Given the description of an element on the screen output the (x, y) to click on. 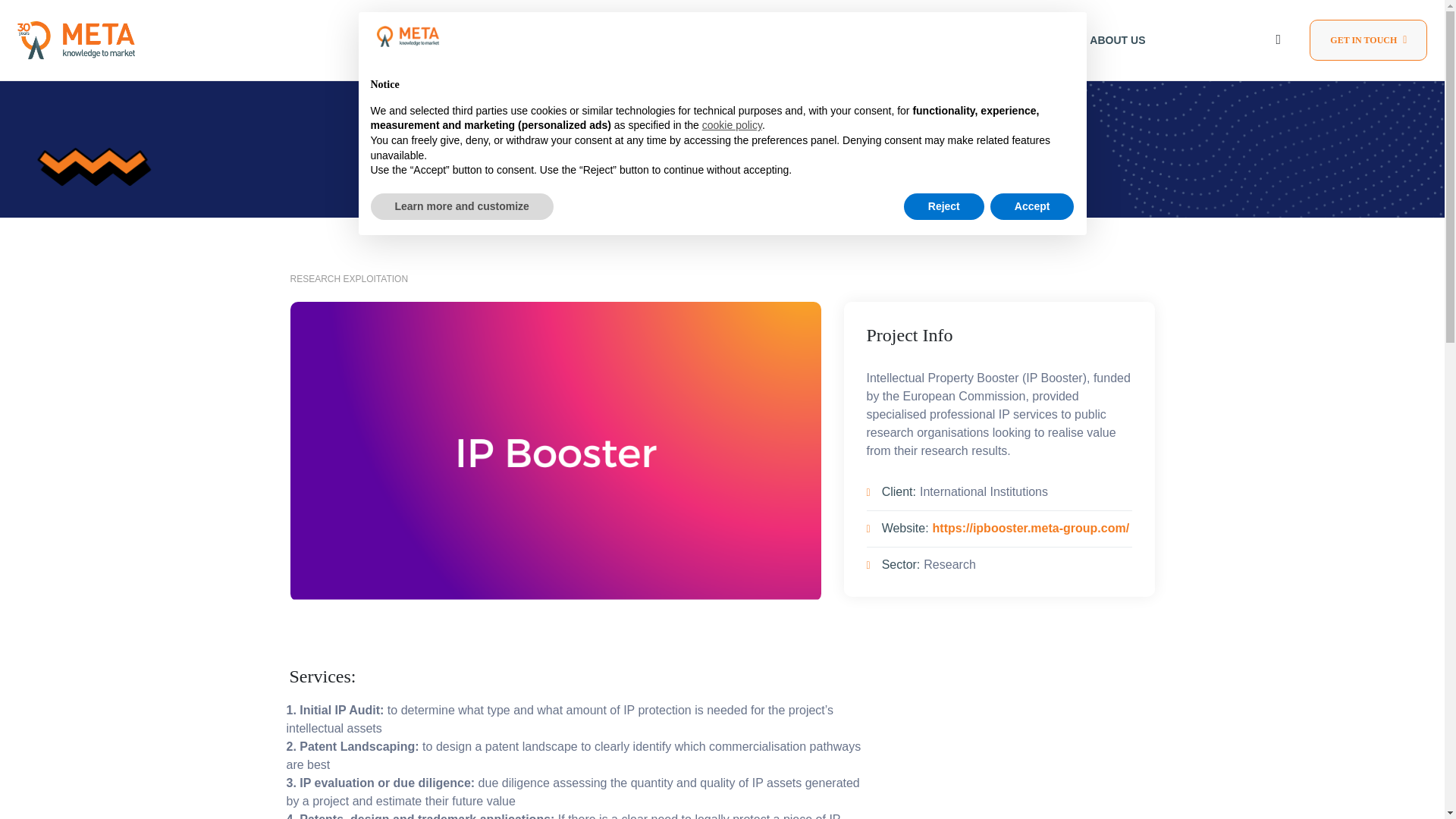
Go to the Research Exploitation Category archives. (761, 118)
GET IN TOUCH (1367, 39)
IMPACT STORIES (648, 118)
Go to Impact Stories. (648, 118)
